Given the description of an element on the screen output the (x, y) to click on. 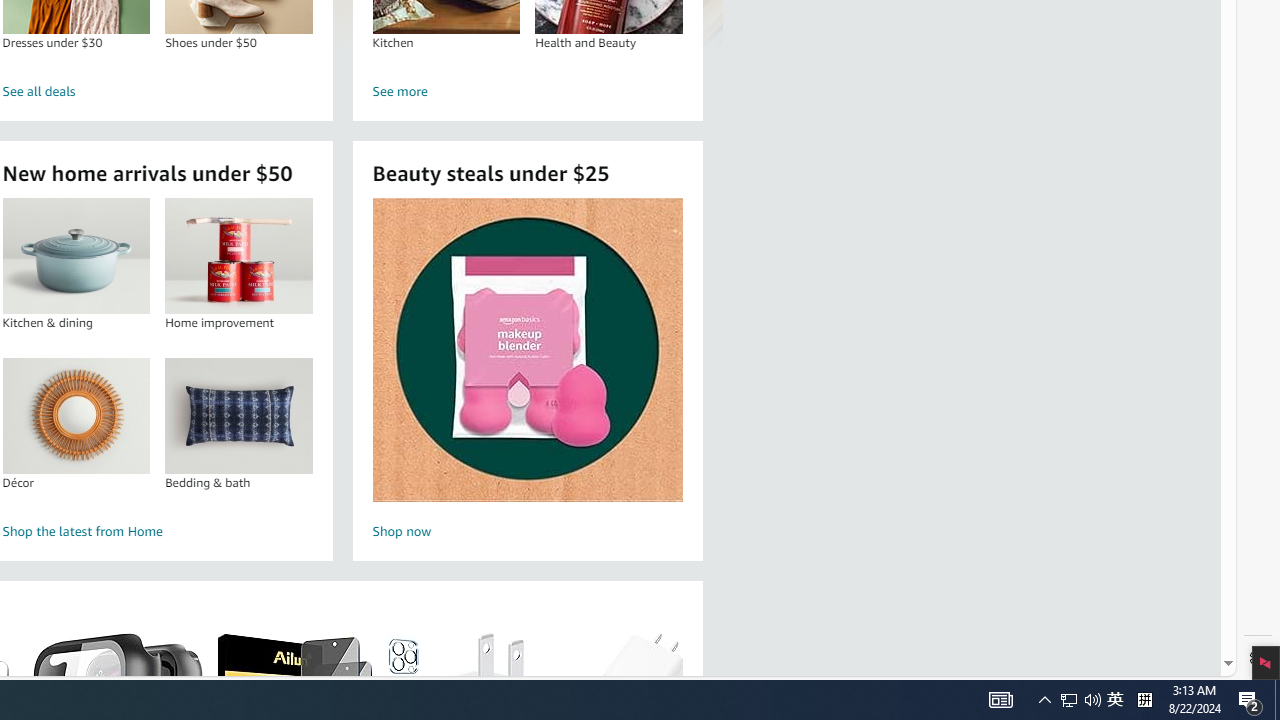
Home improvement (239, 256)
See all deals (157, 92)
Shop the latest from Home (157, 532)
Beauty steals under $25 (526, 349)
Kitchen & dining (75, 256)
Beauty steals under $25 Shop now (527, 371)
Bedding & bath (239, 415)
Home improvement (238, 256)
Bedding & bath (238, 415)
